Given the description of an element on the screen output the (x, y) to click on. 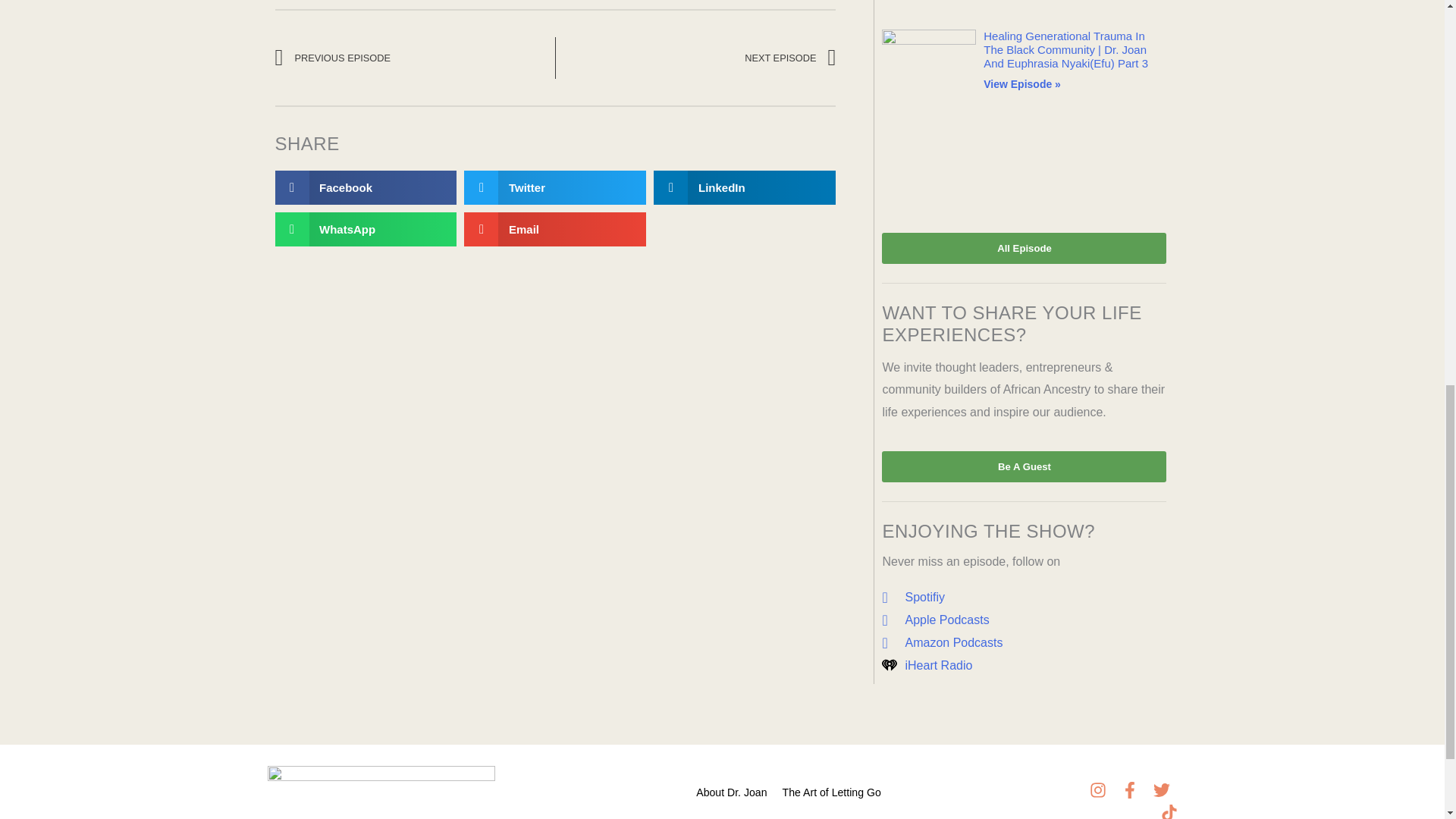
All Episode (1024, 247)
Apple Podcasts (1024, 620)
NEXT EPISODE (695, 57)
Amazon Podcasts (1024, 642)
iHeart Radio (1024, 665)
About Dr. Joan (731, 787)
PREVIOUS EPISODE (414, 57)
Spotifiy (1024, 597)
Be A Guest (1024, 466)
